Given the description of an element on the screen output the (x, y) to click on. 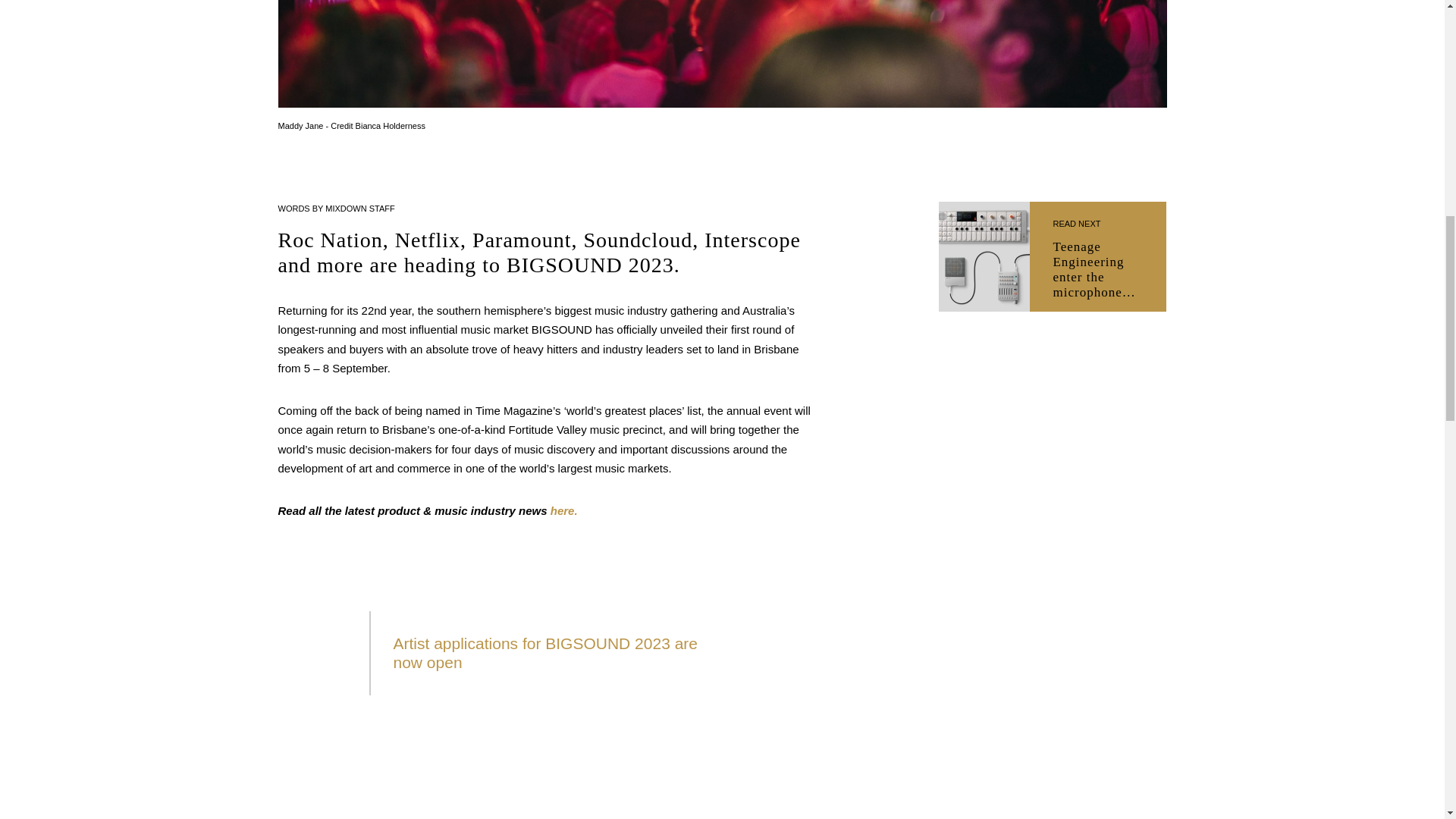
here. (564, 510)
Artist applications for BIGSOUND 2023 are now open (545, 652)
